Given the description of an element on the screen output the (x, y) to click on. 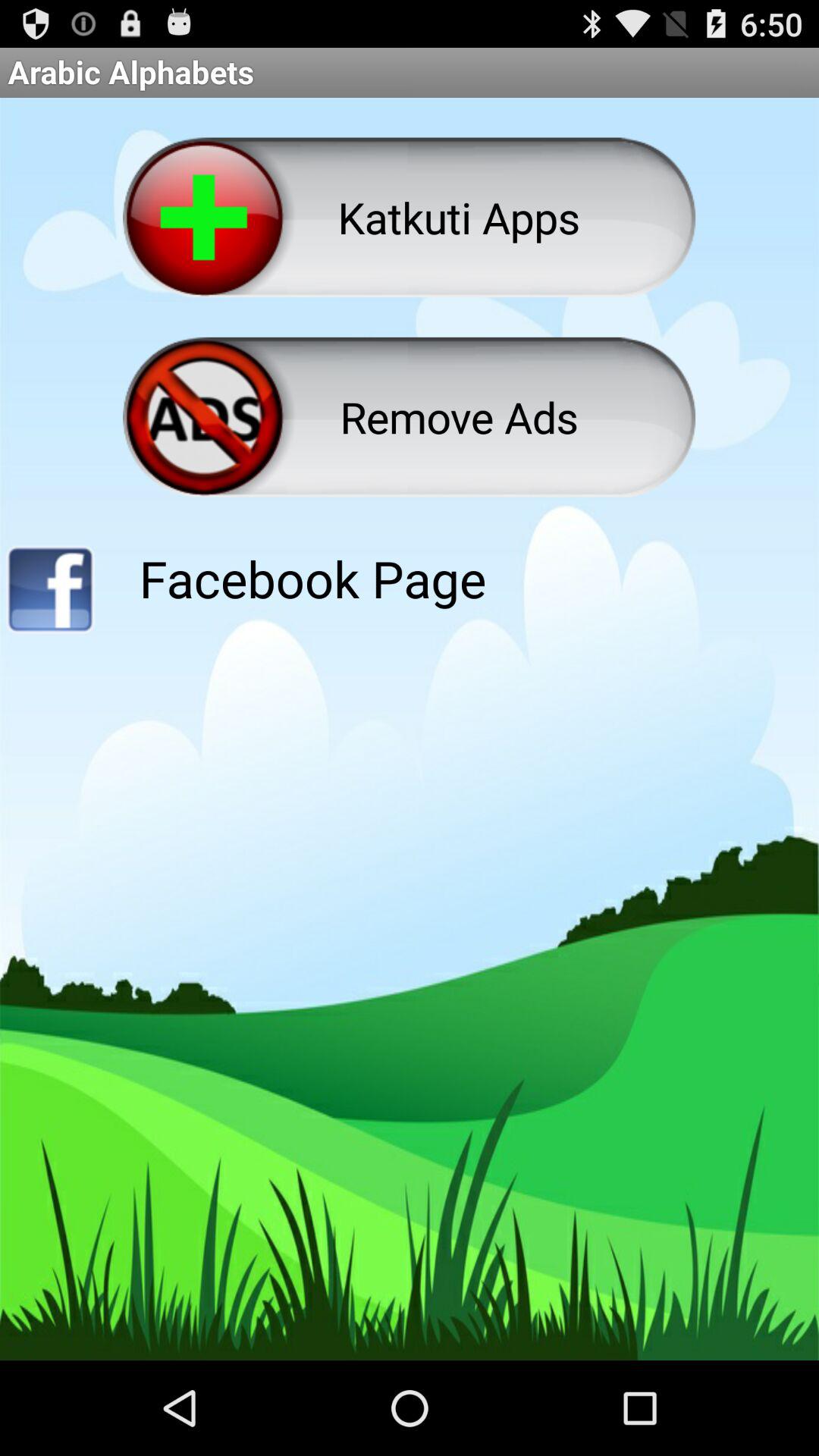
go to facebook button (49, 594)
